Given the description of an element on the screen output the (x, y) to click on. 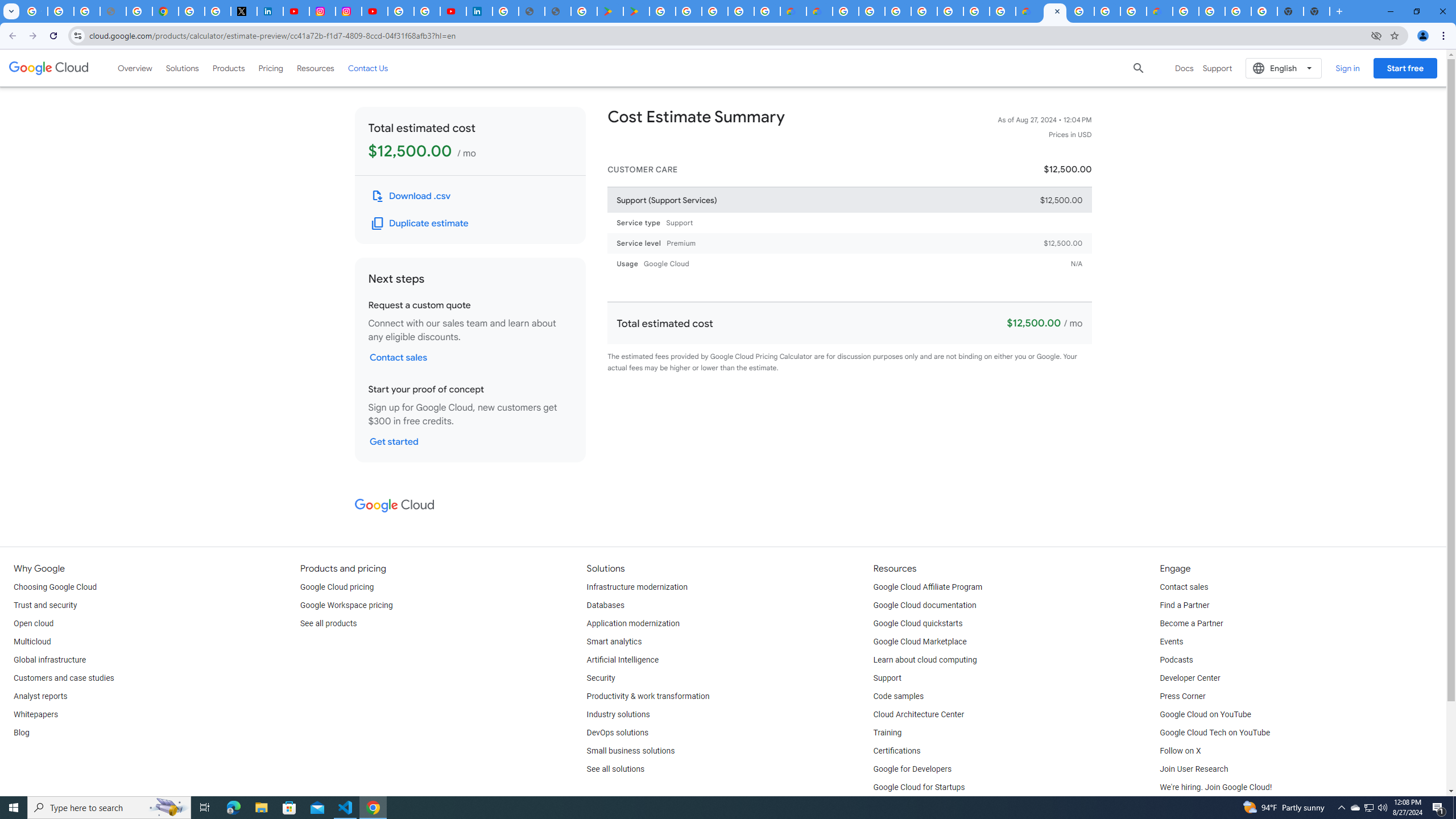
See all solutions (615, 769)
Become a Partner (1190, 624)
Smart analytics (614, 642)
Join User Research (1193, 769)
Solutions (181, 67)
Google Cloud Tech on YouTube (1214, 732)
Browse Chrome as a guest - Computer - Google Chrome Help (1107, 11)
Analyst reports (39, 696)
